Given the description of an element on the screen output the (x, y) to click on. 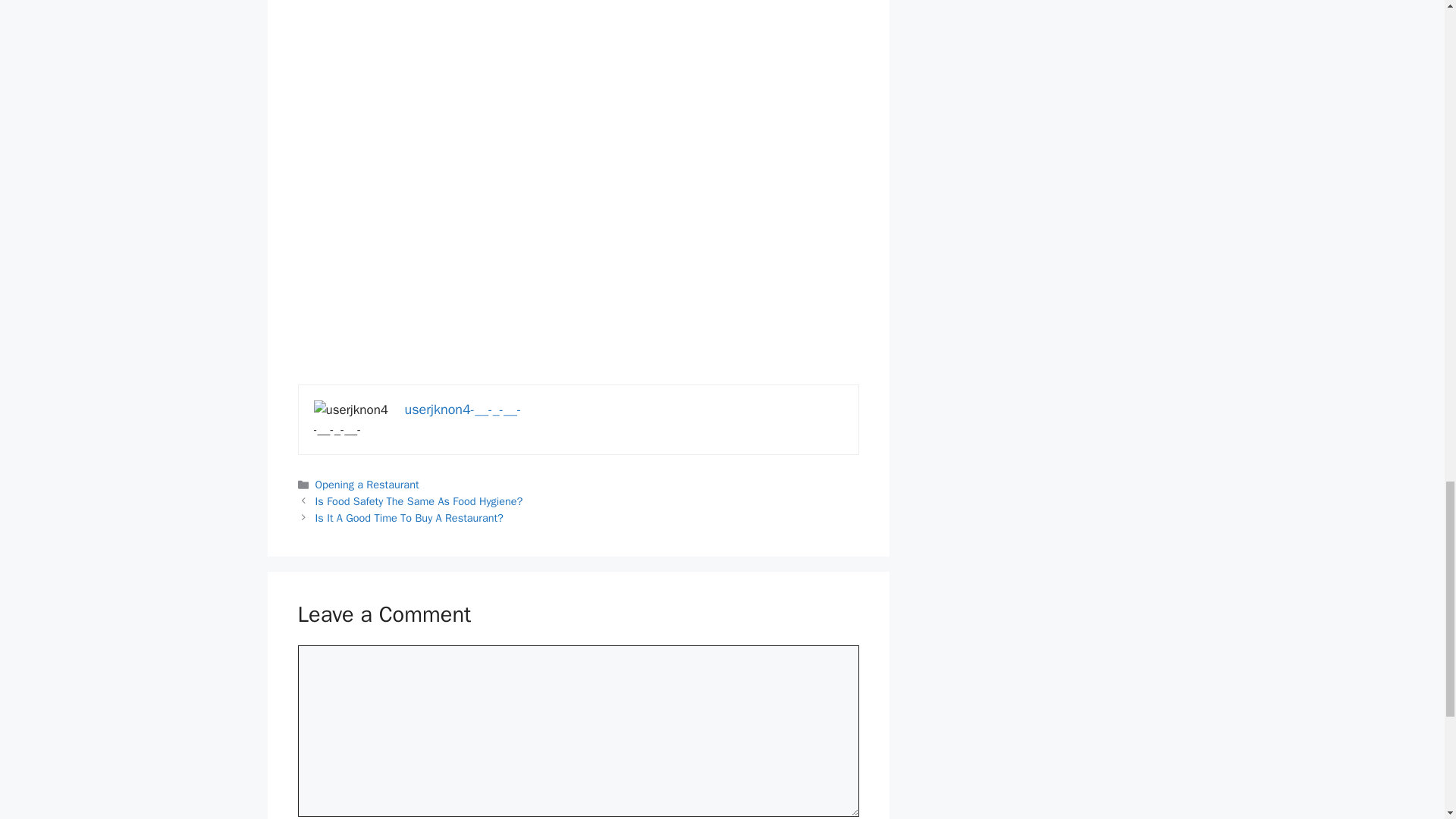
Is Food Safety The Same As Food Hygiene? (418, 500)
Opening a Restaurant (367, 484)
Is It A Good Time To Buy A Restaurant? (409, 517)
